Given the description of an element on the screen output the (x, y) to click on. 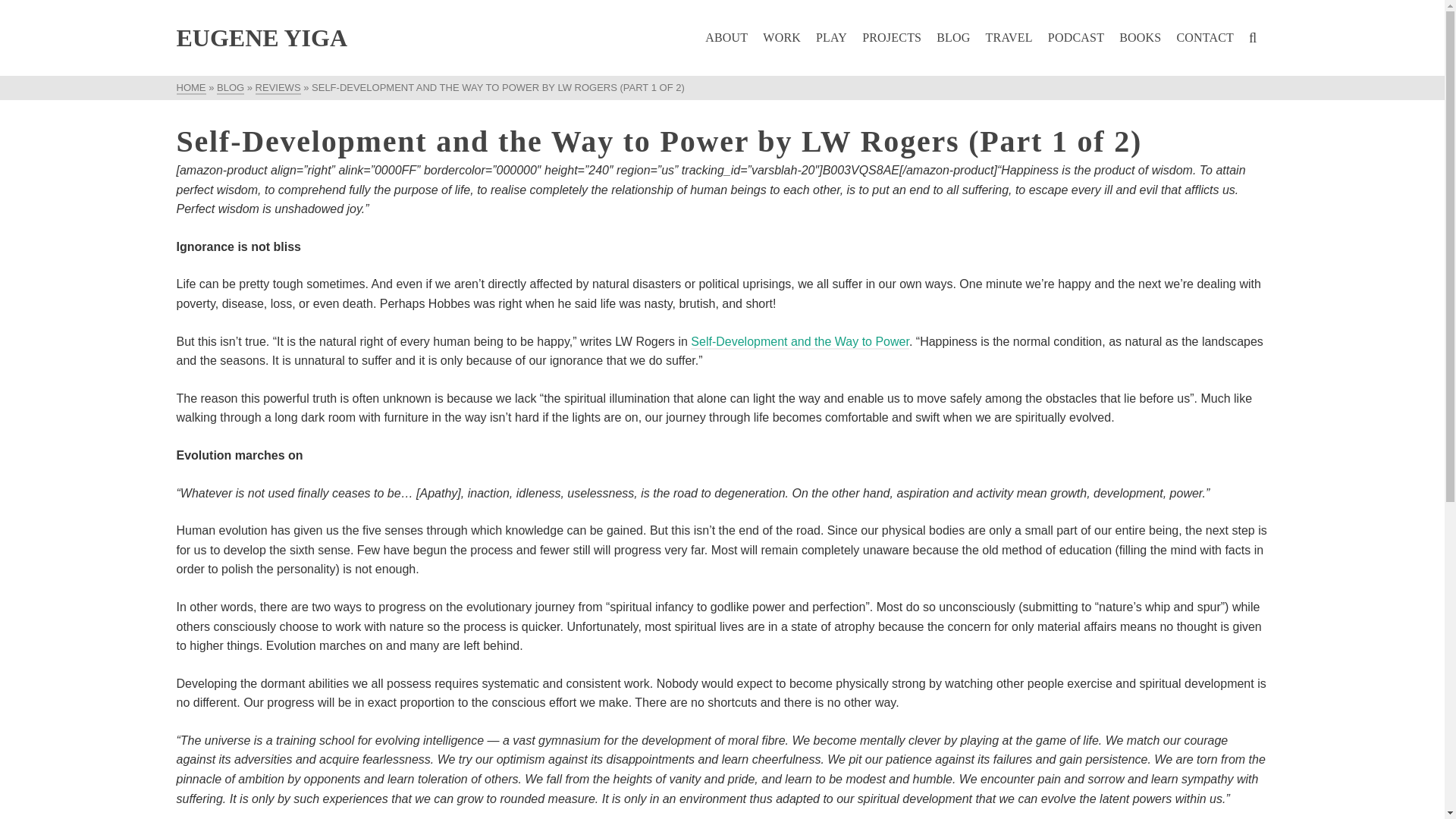
TRAVEL (1009, 37)
REVIEWS (278, 88)
WORK (781, 37)
CONTACT (1205, 37)
PLAY (831, 37)
PROJECTS (891, 37)
BLOG (952, 37)
Self-Development and the Way to Power (799, 341)
BOOKS (1140, 37)
HOME (190, 88)
